Given the description of an element on the screen output the (x, y) to click on. 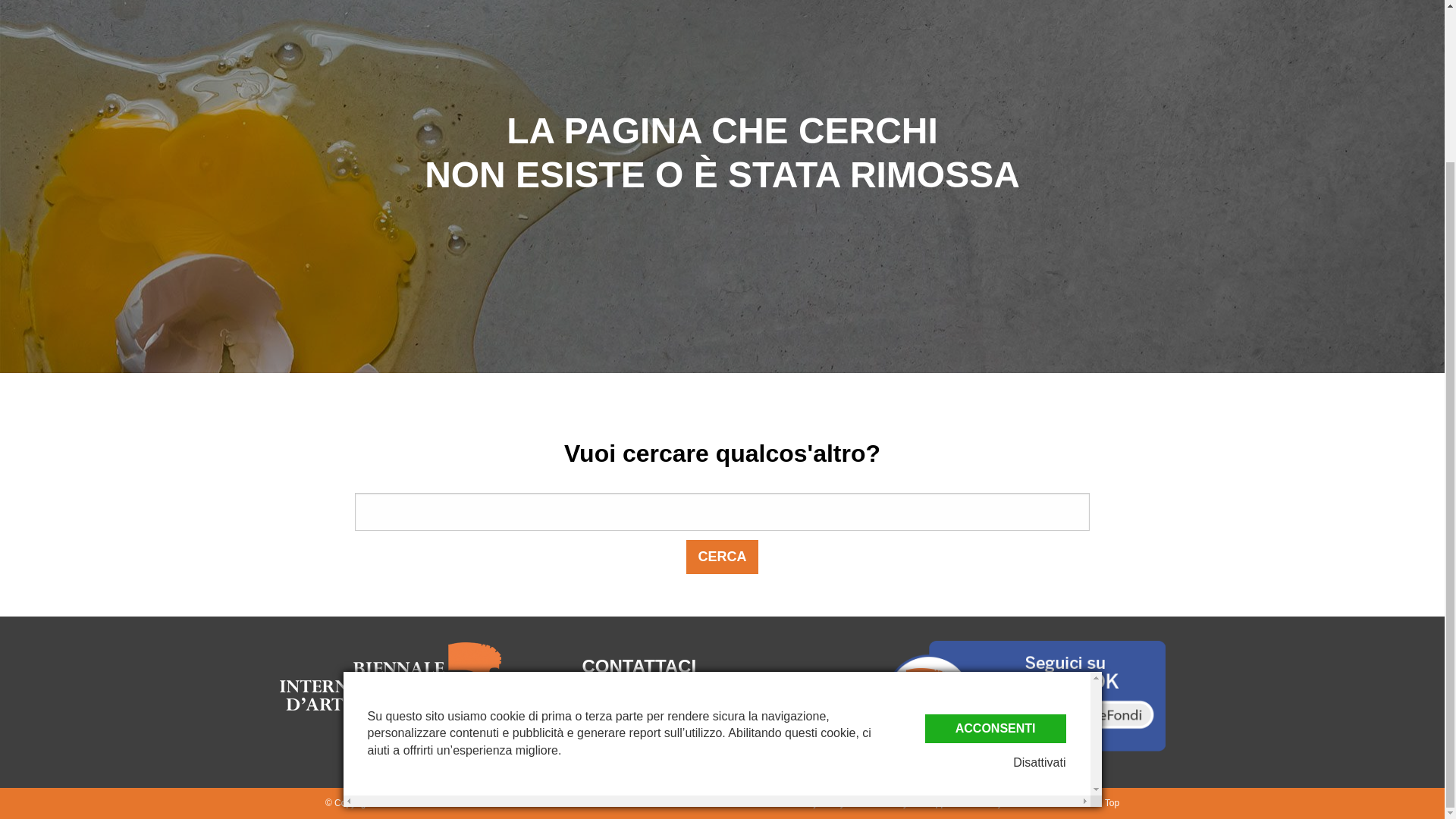
Cerca (721, 556)
Privacy Policy (815, 802)
Cookie Policy (879, 802)
Privacy Policy (815, 802)
Cookie Policy (879, 802)
Cerca (721, 556)
